Given the description of an element on the screen output the (x, y) to click on. 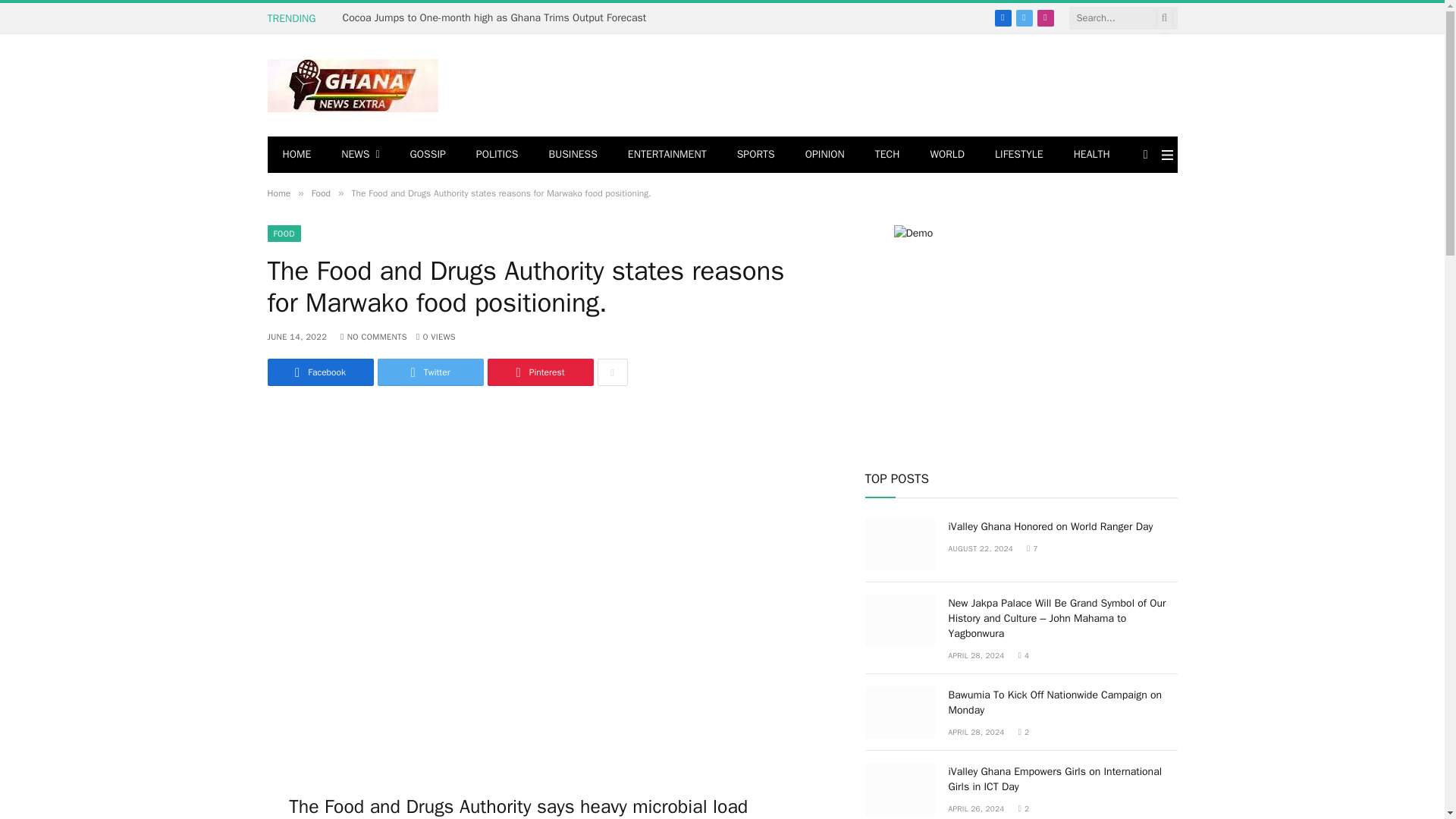
Facebook (1002, 17)
NEWS (360, 154)
Share on Facebook (319, 371)
0 Article Views (435, 336)
HOME (296, 154)
Instagram (1045, 17)
Cocoa Jumps to One-month high as Ghana Trims Output Forecast (497, 18)
Ghana News Extra (352, 85)
Switch to Dark Design - easier on eyes. (1145, 154)
Share on Pinterest (539, 371)
